Given the description of an element on the screen output the (x, y) to click on. 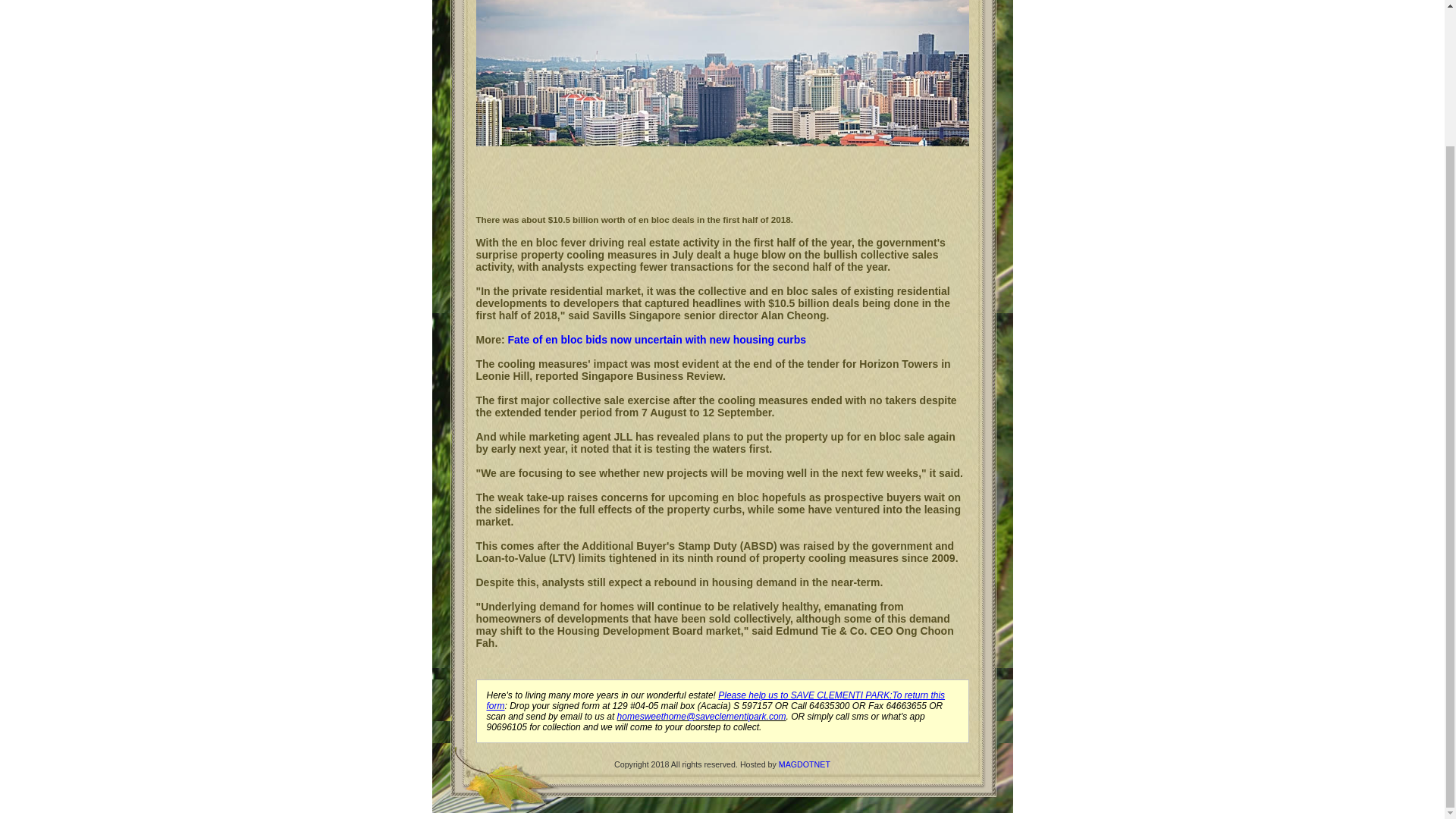
Please help us to SAVE CLEMENTI PARK:To return this form (715, 700)
Fate of en bloc bids now uncertain with new housing curbs (657, 339)
MAGDOTNET (803, 764)
